Given the description of an element on the screen output the (x, y) to click on. 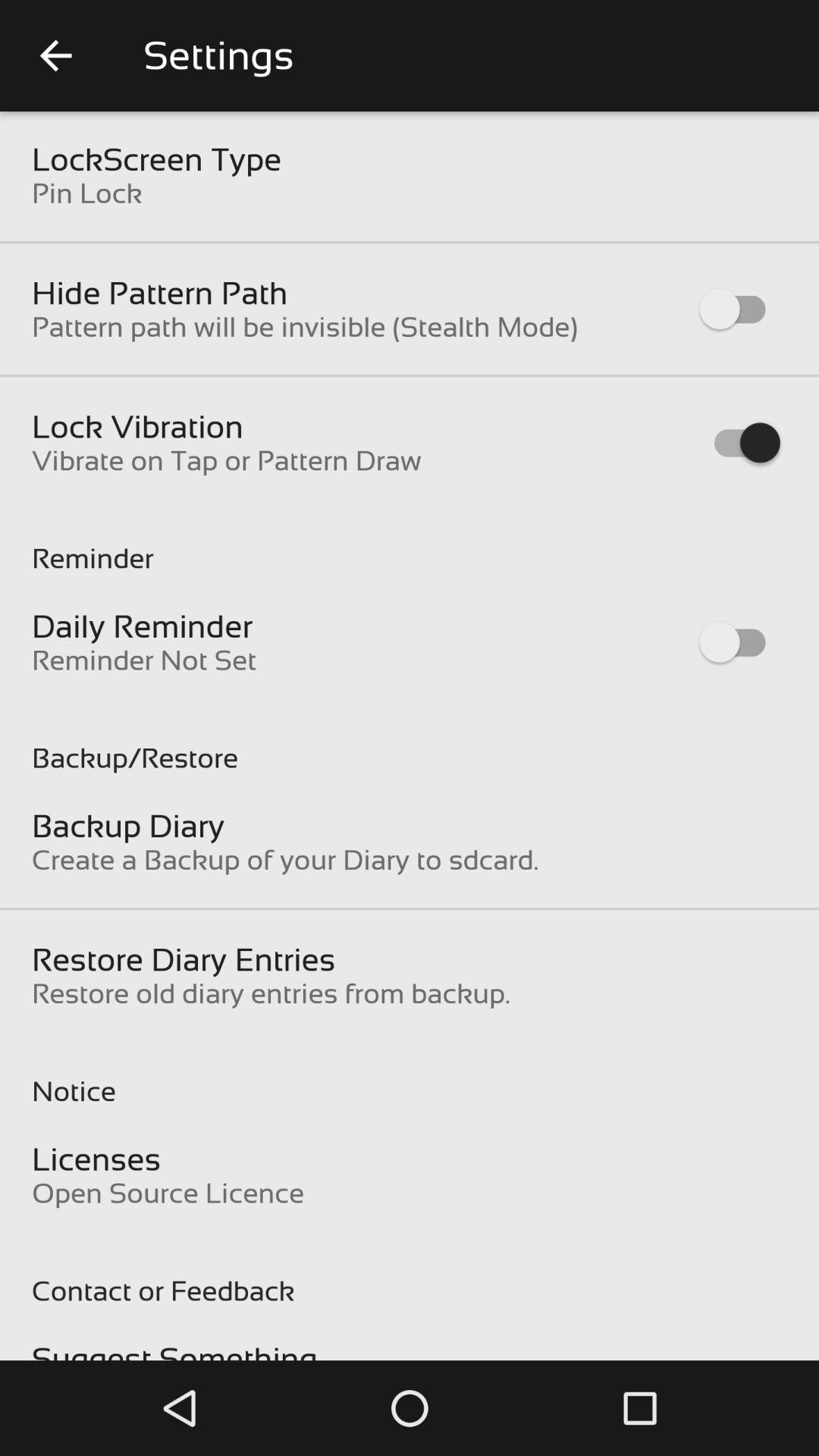
press icon below restore old diary (409, 1075)
